Given the description of an element on the screen output the (x, y) to click on. 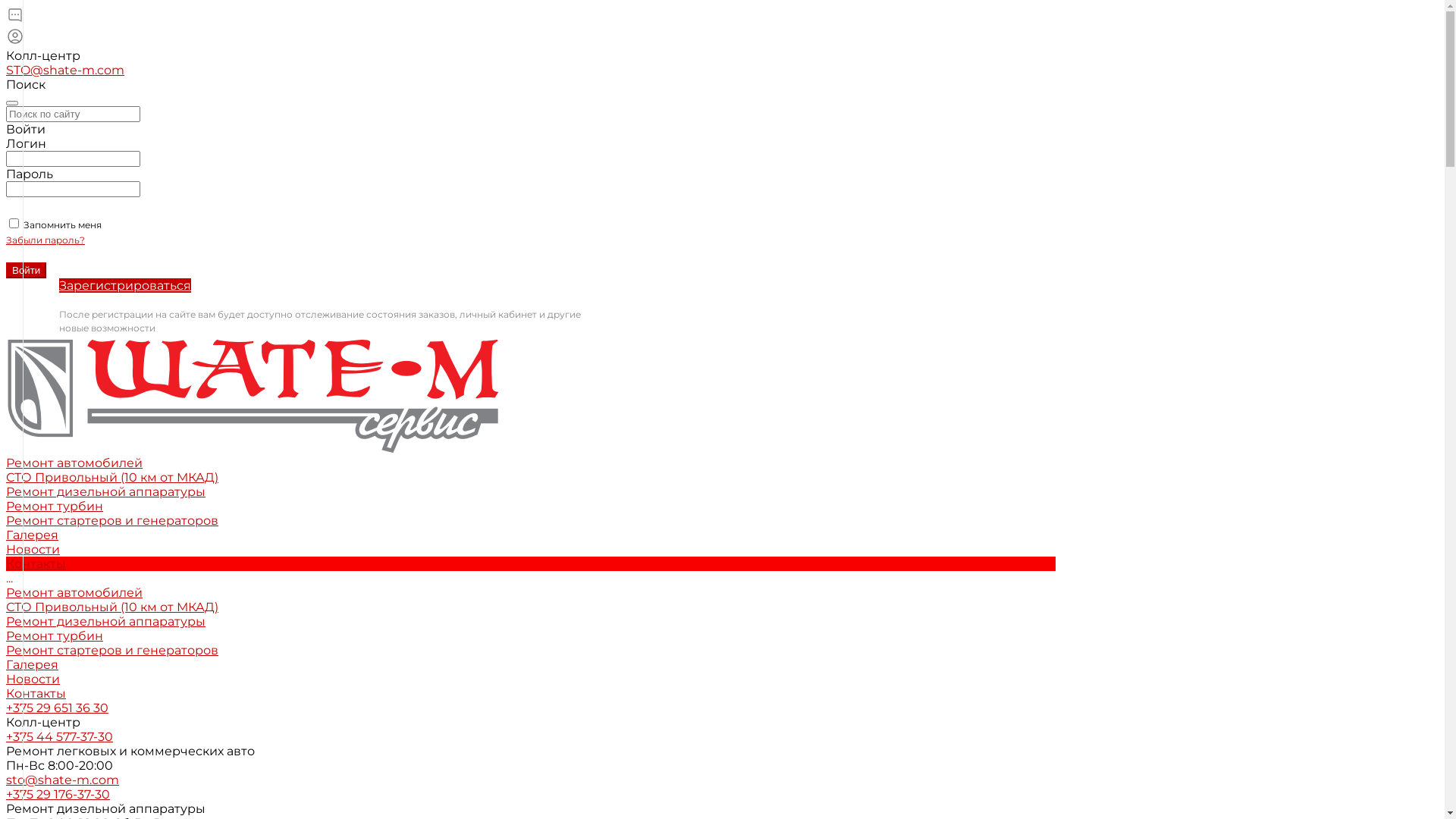
+375 29 651 36 30 Element type: text (57, 707)
+375 44 577-37-30 Element type: text (59, 736)
logosto.png Element type: hover (253, 393)
sto@shate-m.com Element type: text (62, 779)
STO@shate-m.com Element type: text (65, 69)
... Element type: text (530, 578)
+375 29 176-37-30 Element type: text (57, 794)
